Given the description of an element on the screen output the (x, y) to click on. 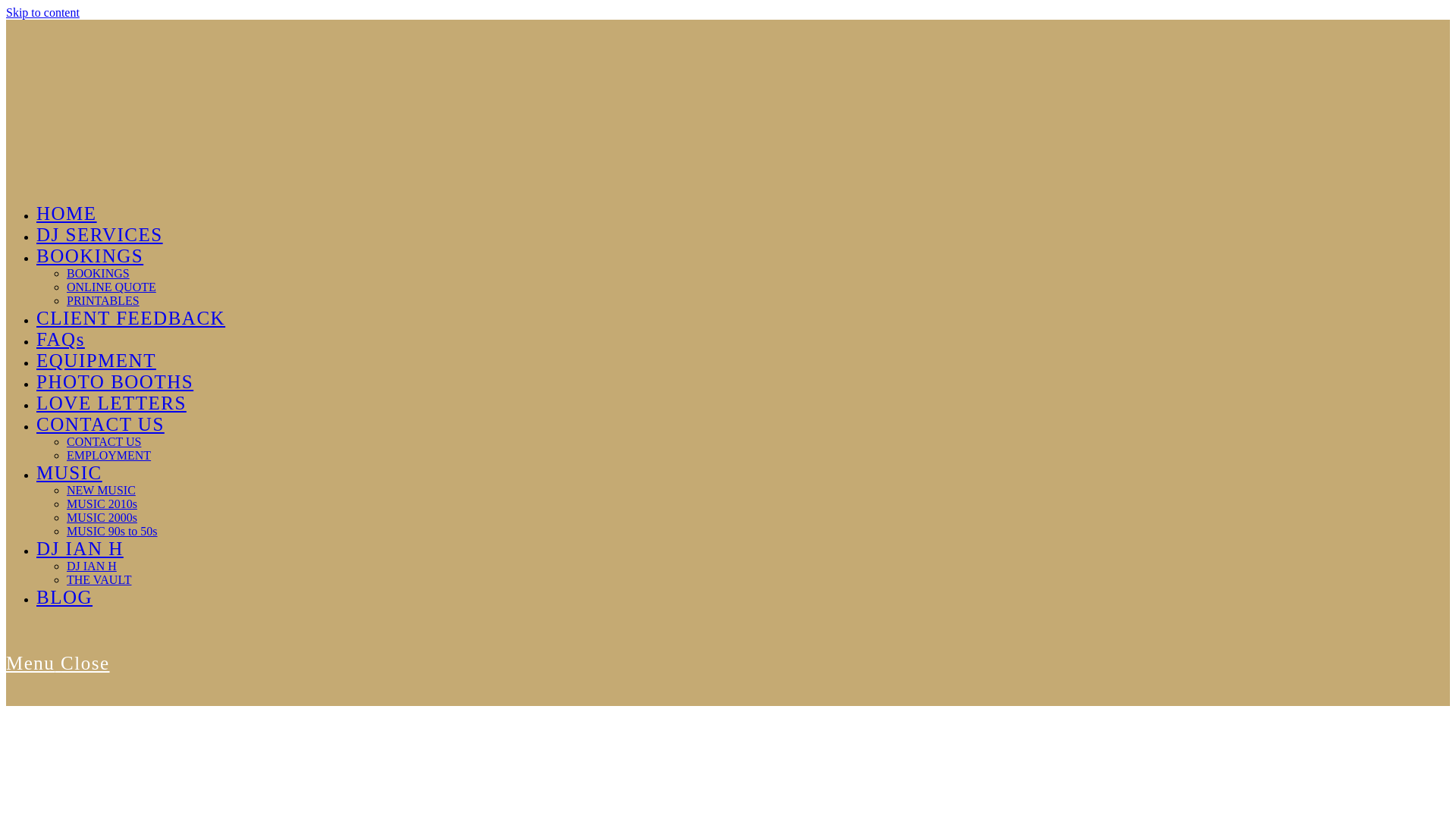
EQUIPMENT (95, 360)
BOOKINGS (89, 255)
CONTACT US (100, 424)
LOVE LETTERS (111, 403)
BOOKINGS (97, 273)
CONTACT US (103, 440)
DJ IAN H (79, 548)
FAQs (60, 339)
BLOG (64, 597)
CLIENT FEEDBACK (130, 317)
